Given the description of an element on the screen output the (x, y) to click on. 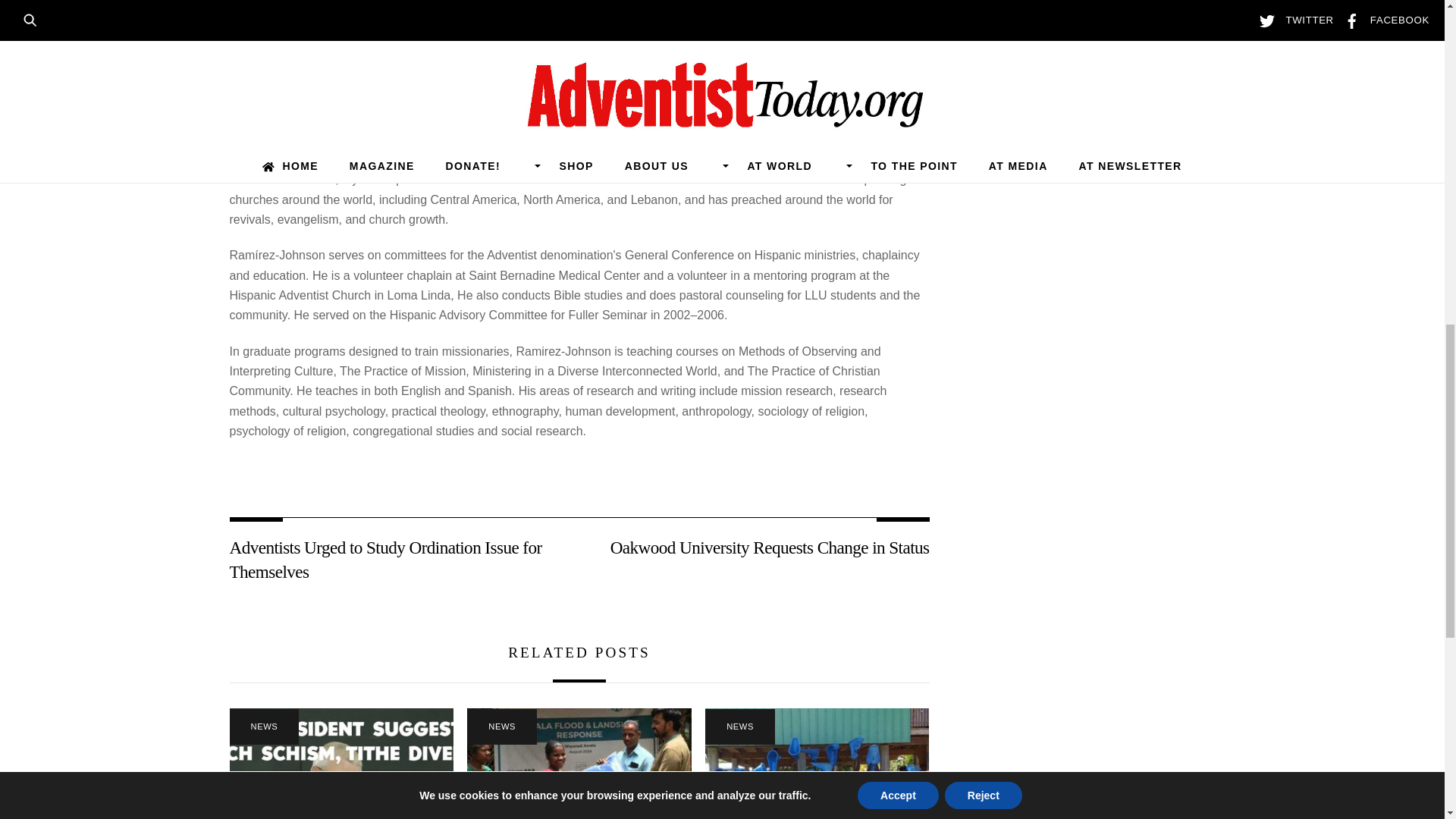
AFM (340, 763)
Adventists Urged to Study Ordination Issue for Themselves (392, 559)
toilets2-600x0-c-default (816, 763)
Oakwood University Requests Change in Status (764, 547)
NEWS (502, 726)
NEWS (263, 726)
